Given the description of an element on the screen output the (x, y) to click on. 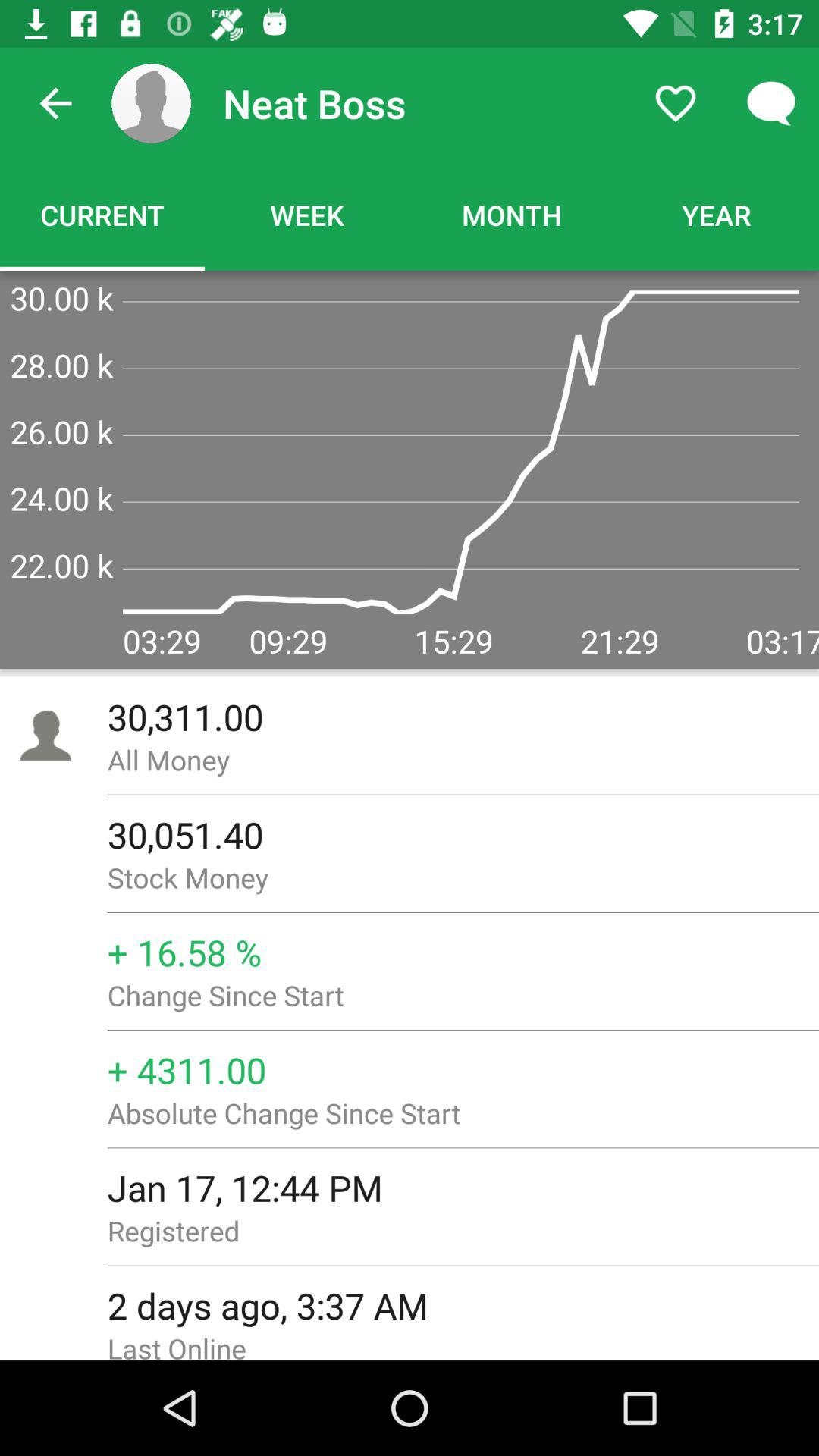
profile photo (151, 103)
